Given the description of an element on the screen output the (x, y) to click on. 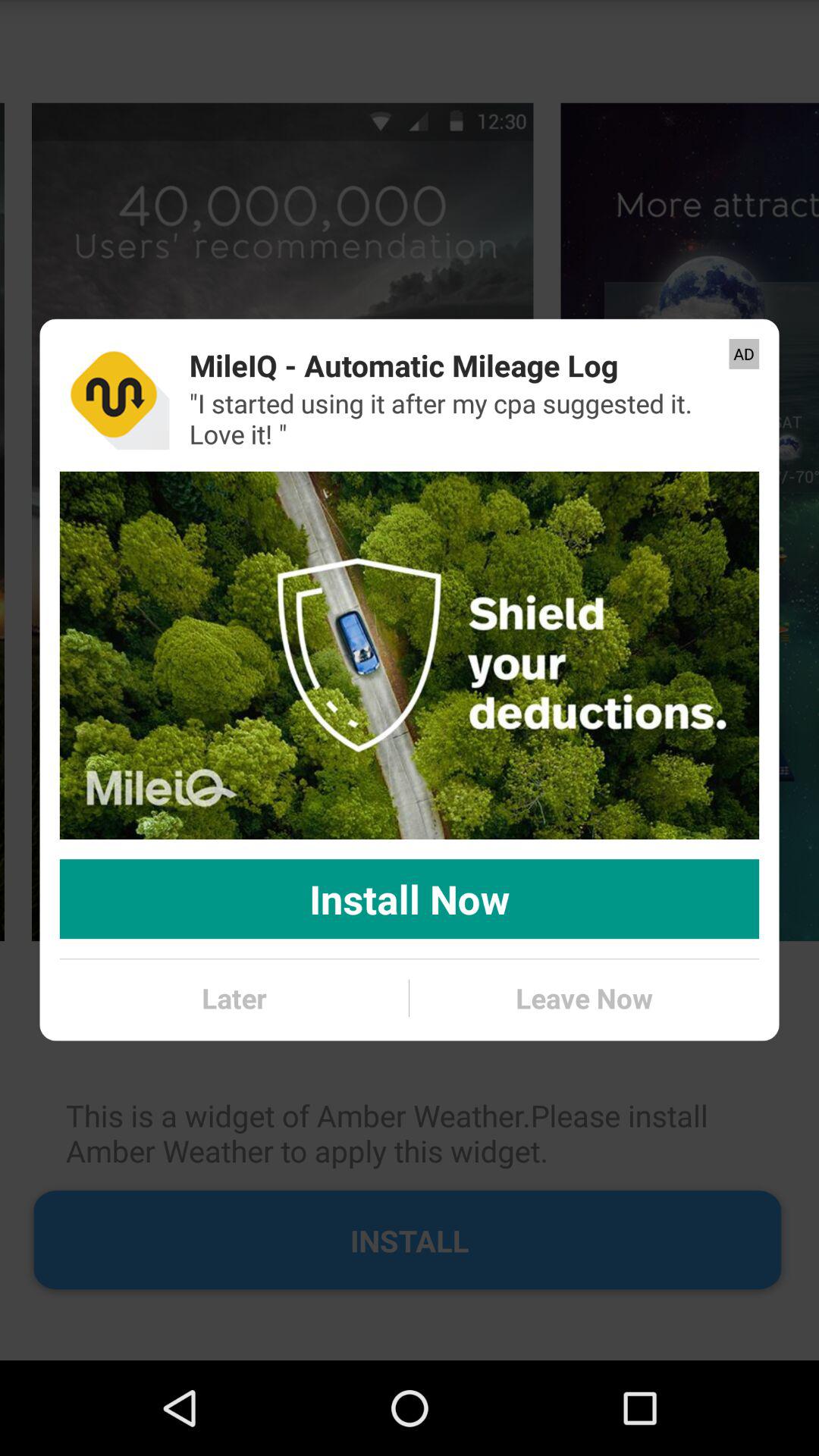
turn off icon next to the later app (584, 997)
